Given the description of an element on the screen output the (x, y) to click on. 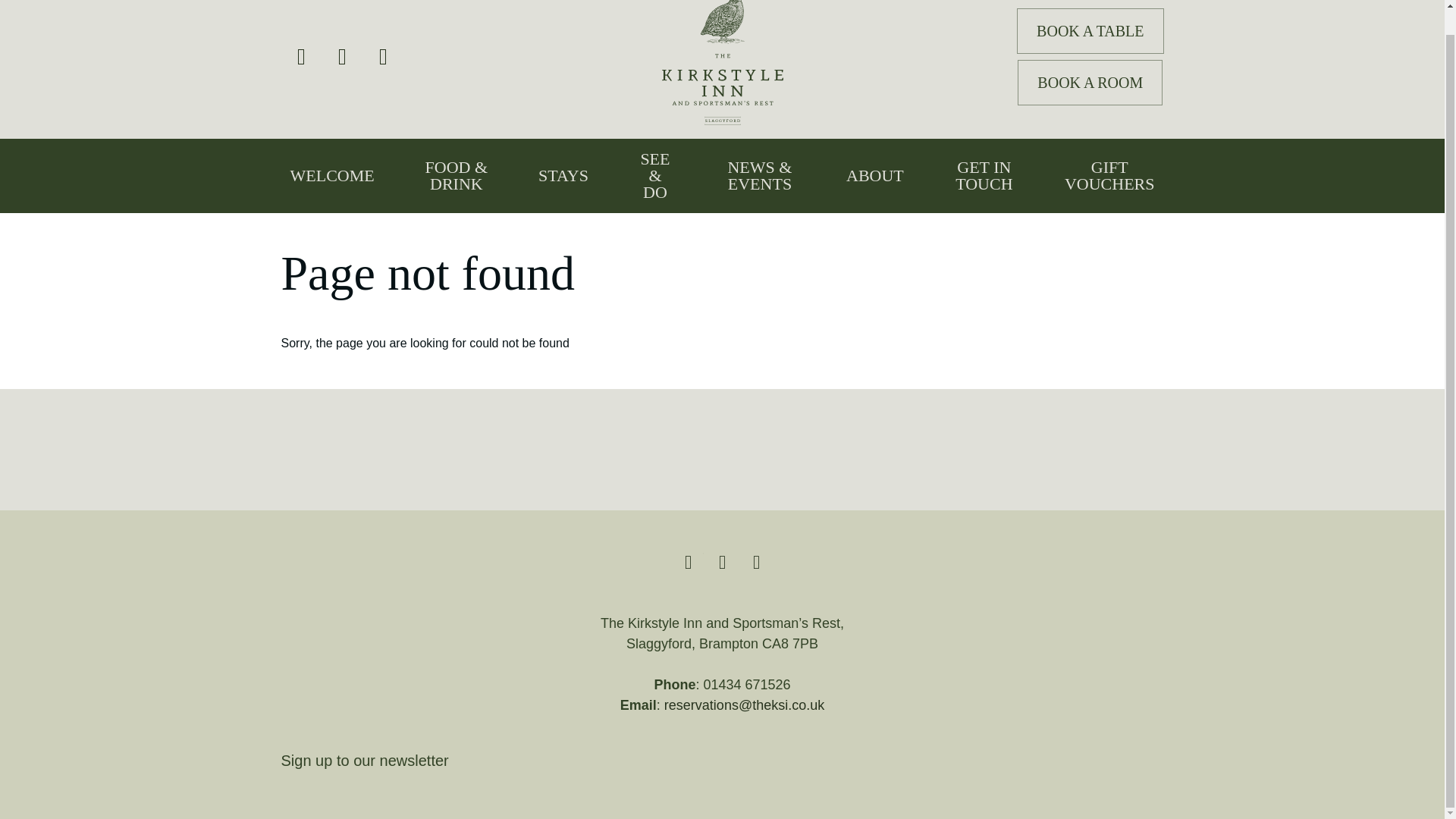
ABOUT (875, 175)
Facebook (383, 56)
BOOK A TABLE (1089, 31)
STAYS (562, 175)
Twitter (301, 56)
GIFT VOUCHERS (1110, 175)
Twitter (687, 562)
Instagram (342, 56)
BOOK A ROOM (1089, 82)
GET IN TOUCH (984, 175)
